Given the description of an element on the screen output the (x, y) to click on. 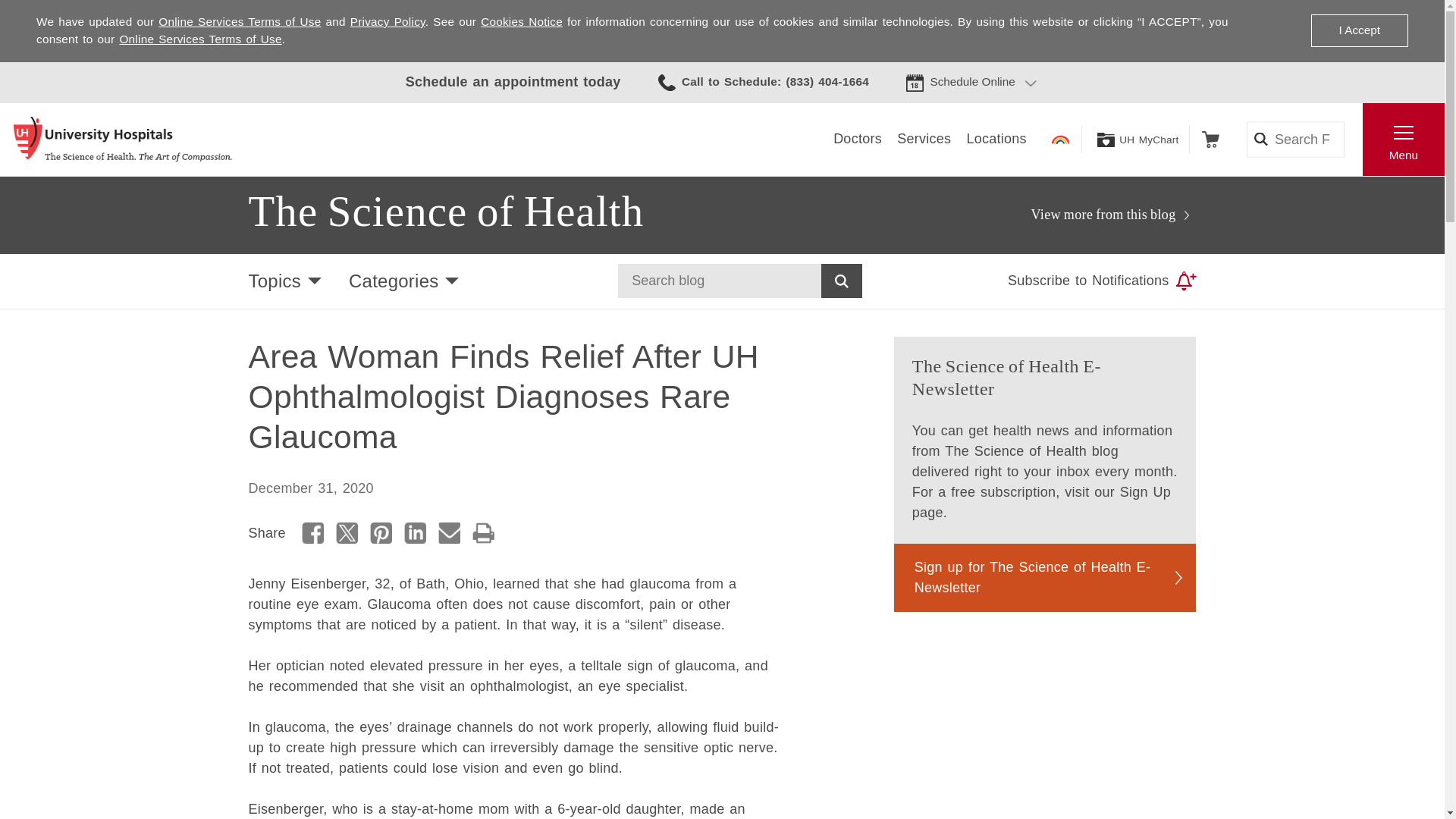
Privacy Policy (387, 21)
Online Services Terms of Use (200, 38)
I Accept (1359, 30)
Online Services Terms of Use (239, 21)
Schedule Online (972, 81)
Cookies Notice (521, 21)
